Given the description of an element on the screen output the (x, y) to click on. 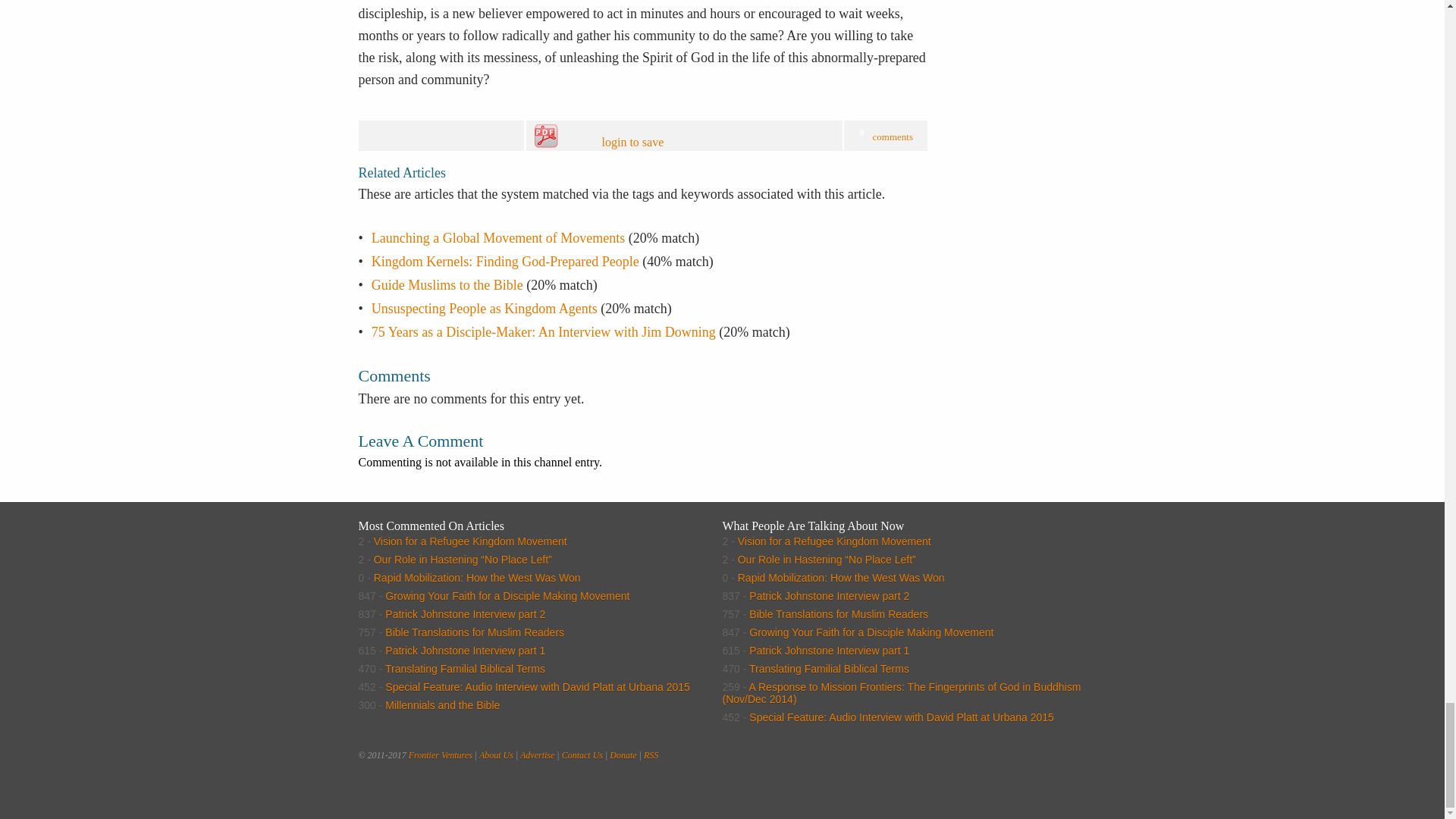
Launching a Global Movement of Movements (497, 237)
Guide Muslims to the Bible (446, 284)
Kingdom Kernels: Finding God-Prepared People (505, 261)
comments (892, 136)
75 Years as a Disciple-Maker: An Interview with Jim Downing (543, 331)
Unsuspecting People as Kingdom Agents (483, 308)
login to save (666, 136)
